Given the description of an element on the screen output the (x, y) to click on. 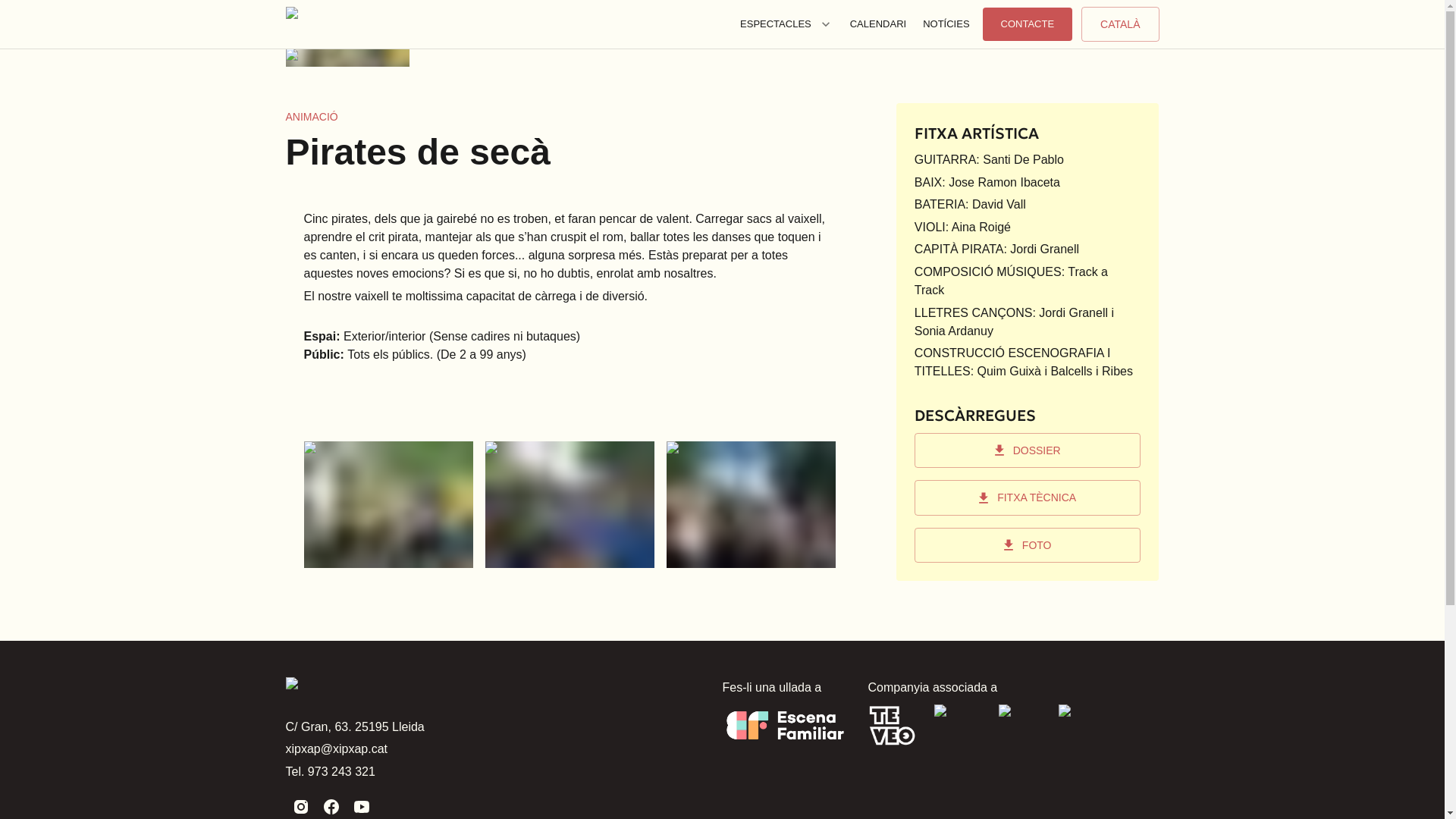
CALENDARI Element type: text (878, 24)
ESPECTACLES Element type: text (785, 24)
DOSSIER Element type: text (1027, 450)
CONTACTE Element type: text (1027, 24)
Toggle menu for Espectacles Element type: text (825, 23)
FOTO Element type: text (1027, 545)
